Given the description of an element on the screen output the (x, y) to click on. 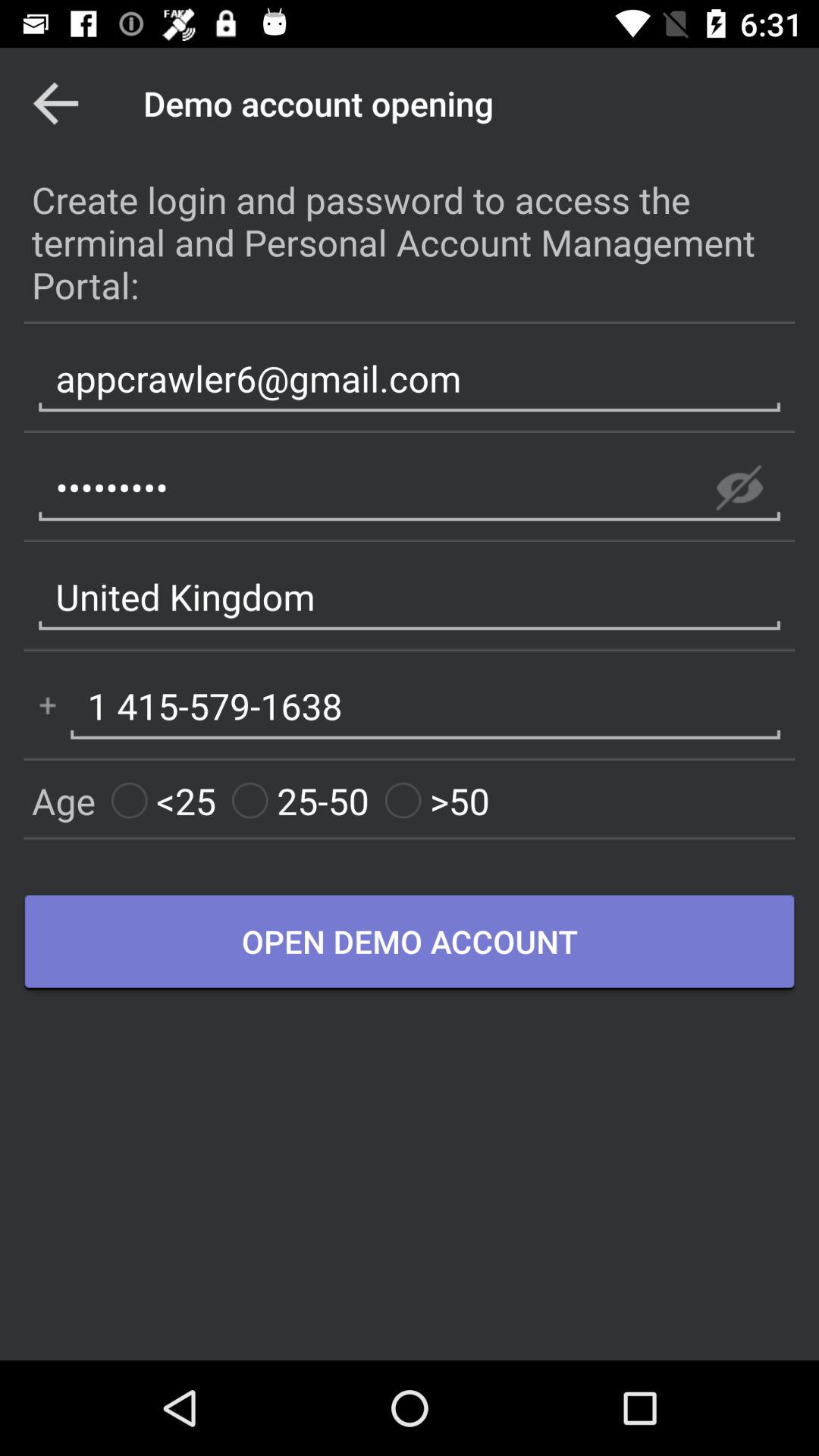
press appcrawler6@gmail.com item (409, 378)
